Given the description of an element on the screen output the (x, y) to click on. 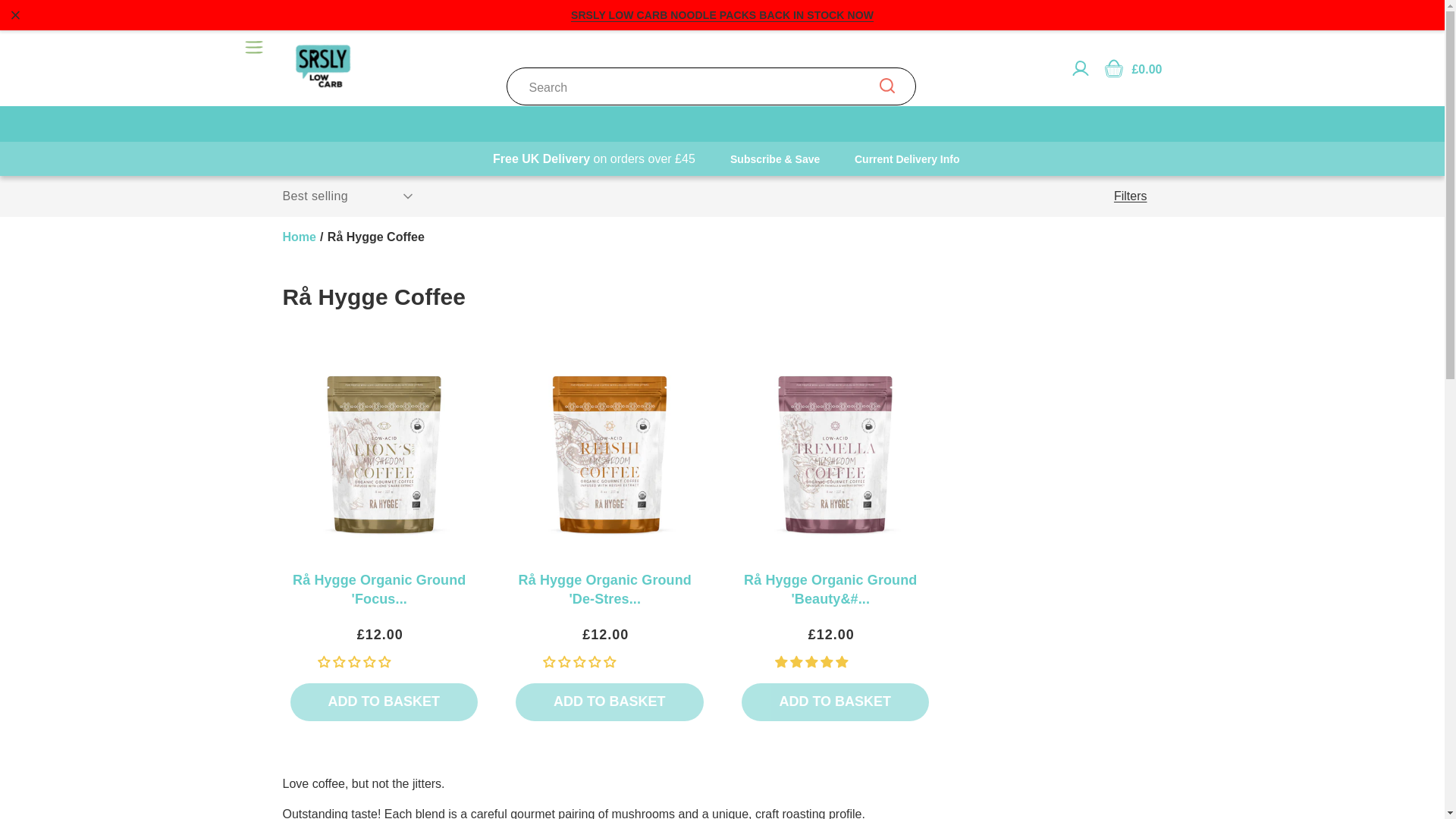
SRSLY LOW CARB NOODLE PACKS BACK IN STOCK NOW (721, 15)
Log in (1080, 67)
SKIP TO CONTENT (48, 18)
Basket (1113, 67)
Home (298, 236)
